Given the description of an element on the screen output the (x, y) to click on. 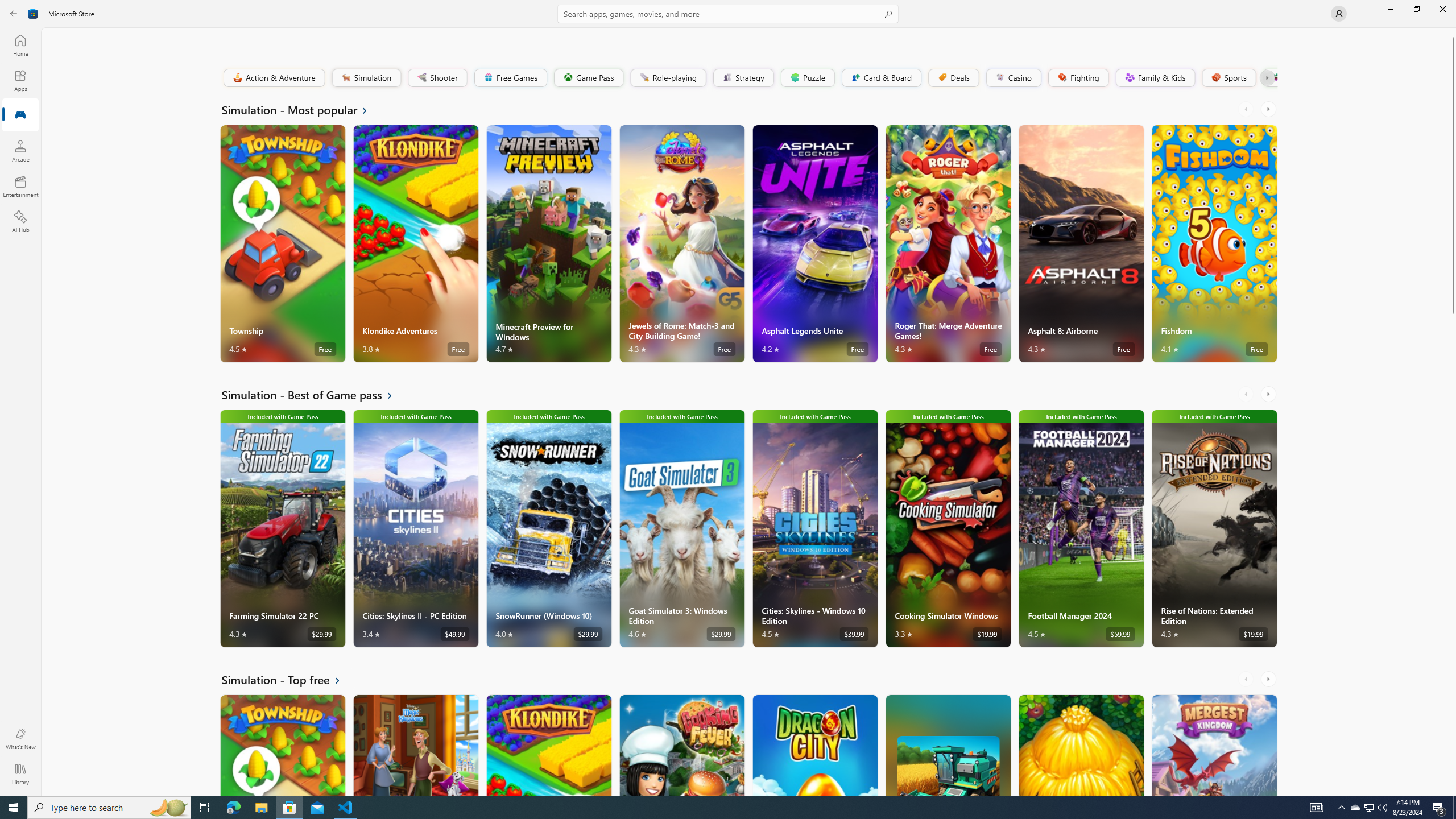
Dragon City. Average rating of 4.5 out of five stars. Free   (814, 745)
Gaming (20, 115)
Back (13, 13)
See all  Simulation - Most popular (301, 109)
AutomationID: RightScrollButton (1269, 678)
Home (20, 45)
AI Hub (20, 221)
User profile (1338, 13)
Search (727, 13)
